Given the description of an element on the screen output the (x, y) to click on. 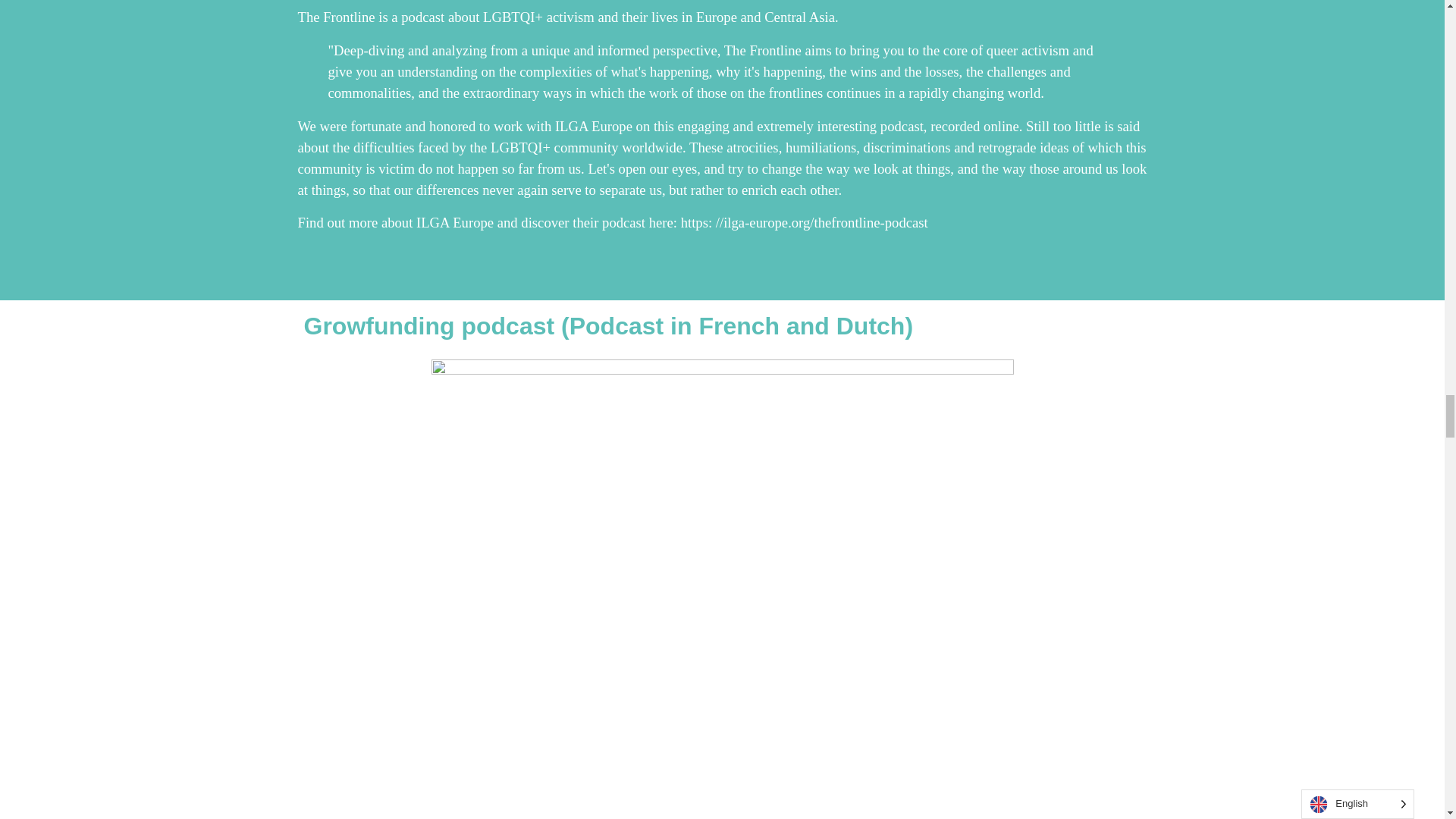
https: (698, 222)
ILGA Europe (454, 222)
